Given the description of an element on the screen output the (x, y) to click on. 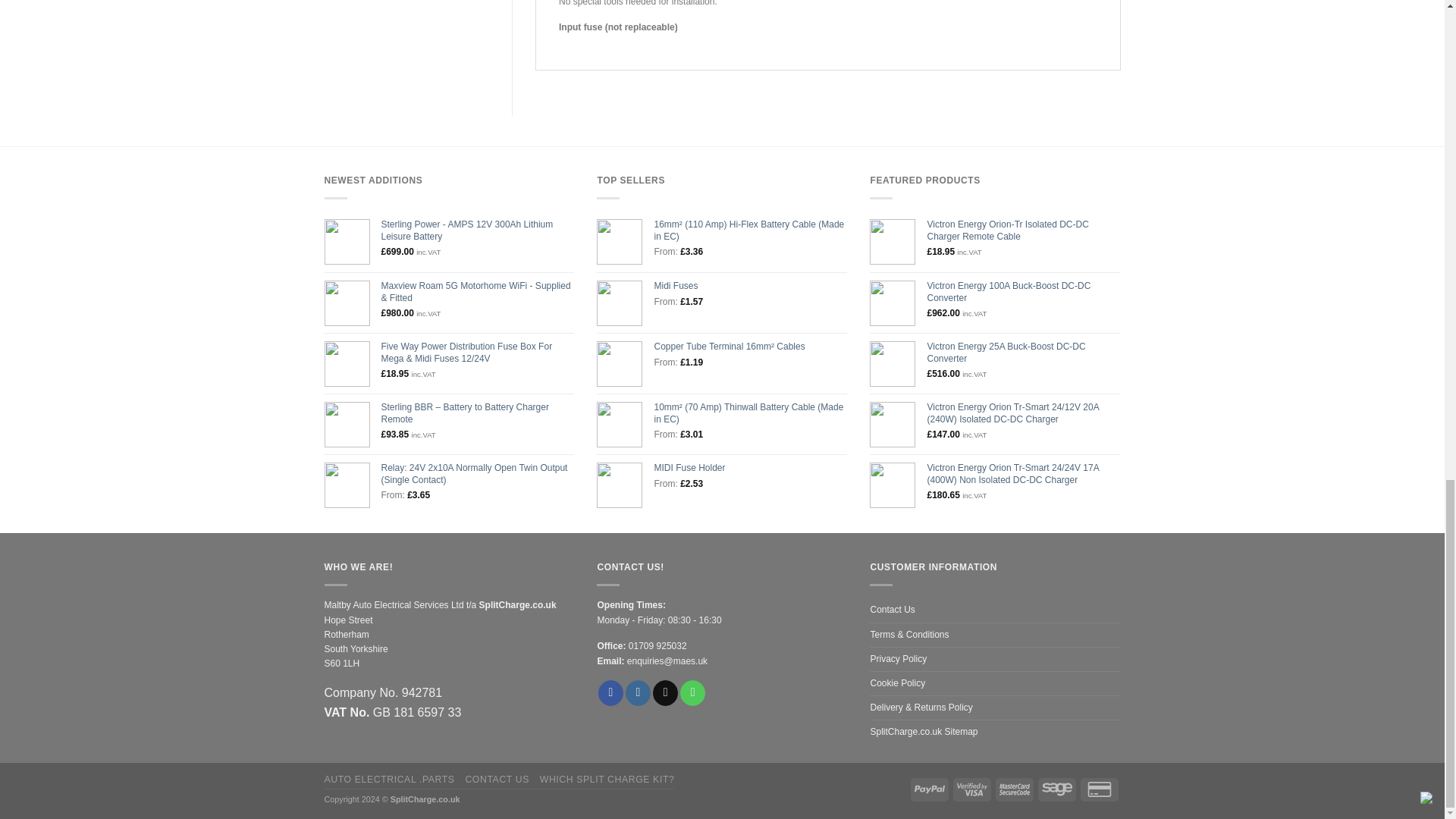
Send us an email (665, 692)
Call us (691, 692)
Follow on Instagram (638, 692)
Follow on Facebook (610, 692)
